Given the description of an element on the screen output the (x, y) to click on. 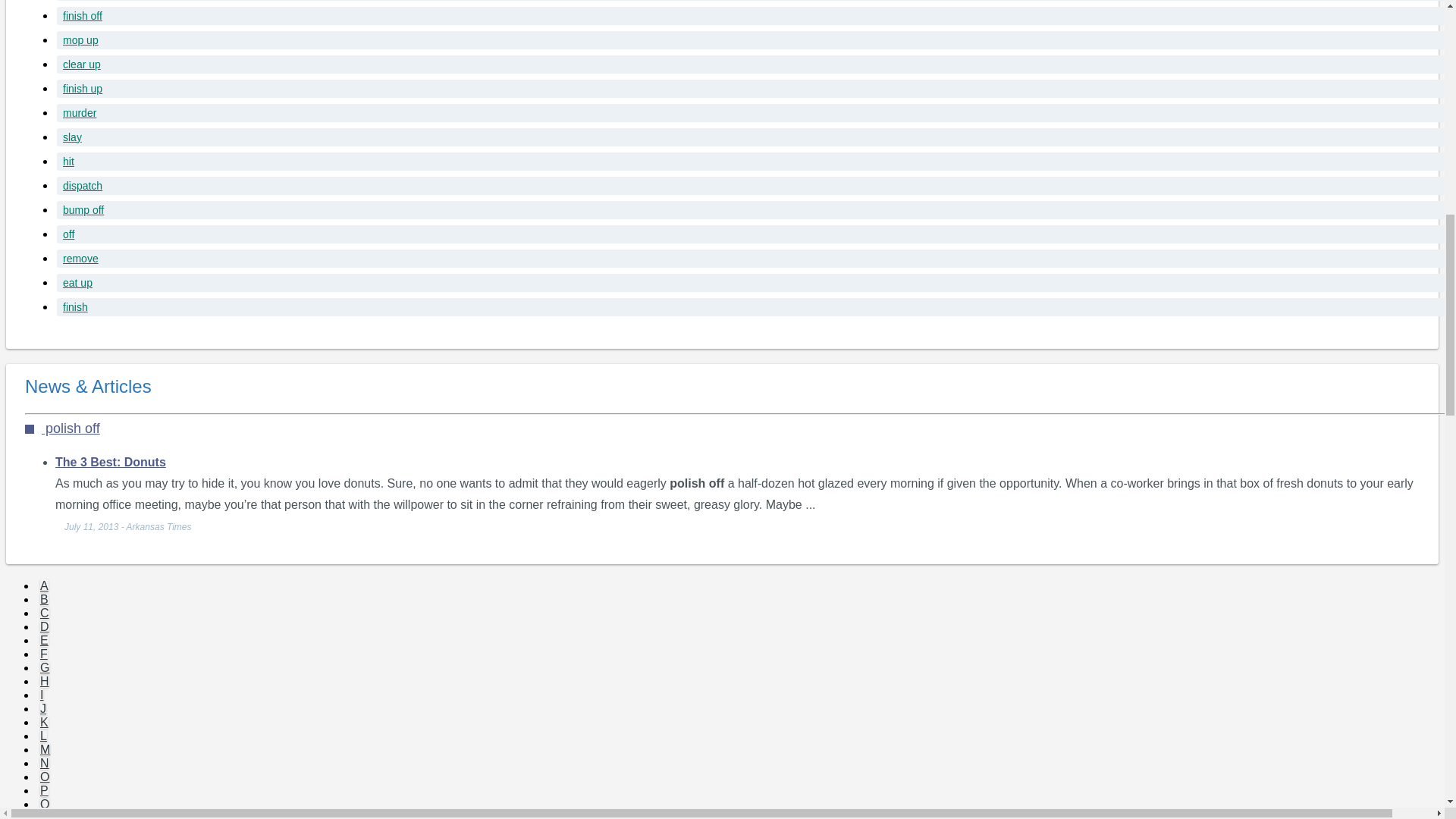
  polish off (62, 427)
The 3 Best: Donuts (110, 461)
